Given the description of an element on the screen output the (x, y) to click on. 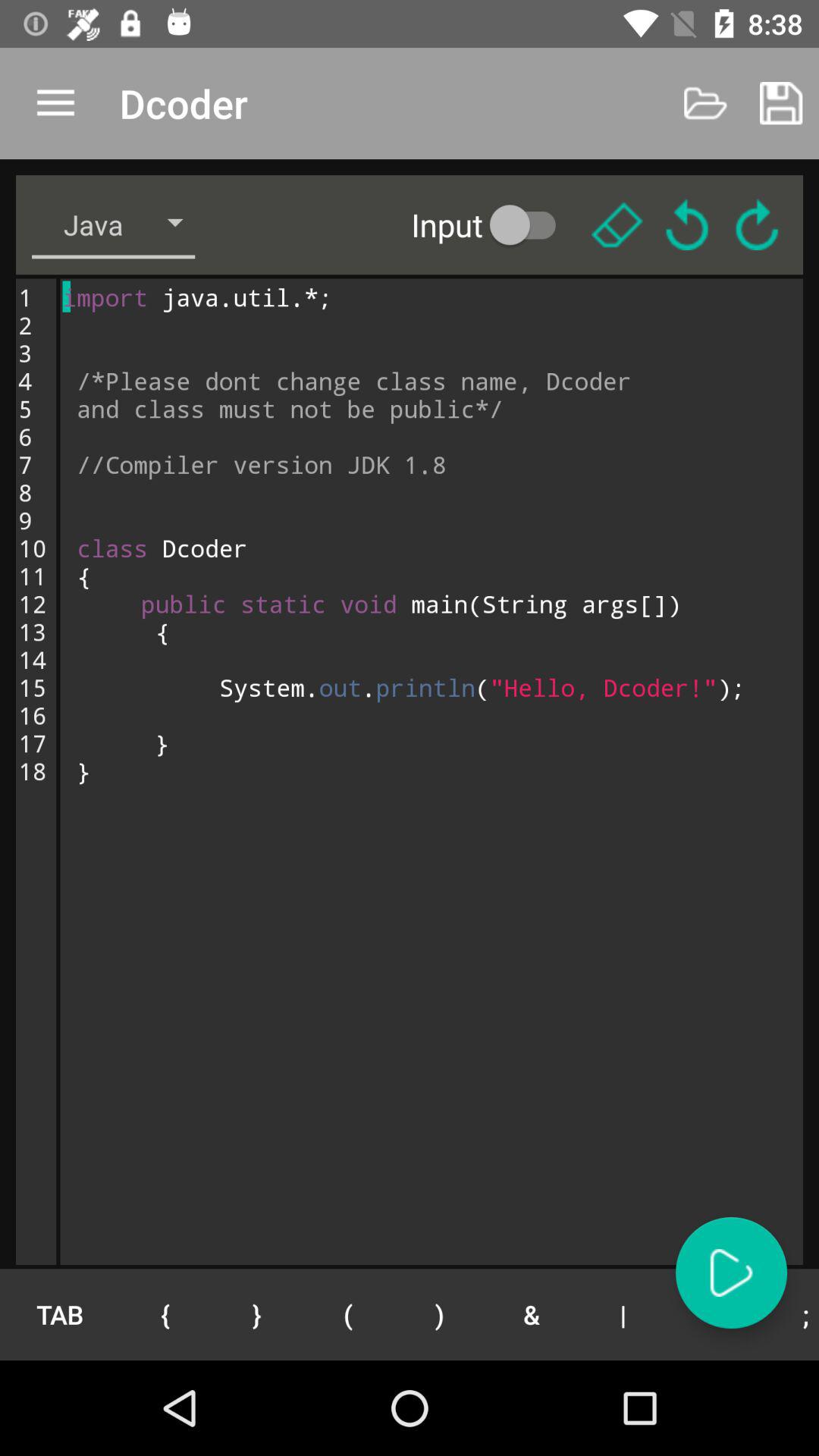
play (731, 1272)
